Given the description of an element on the screen output the (x, y) to click on. 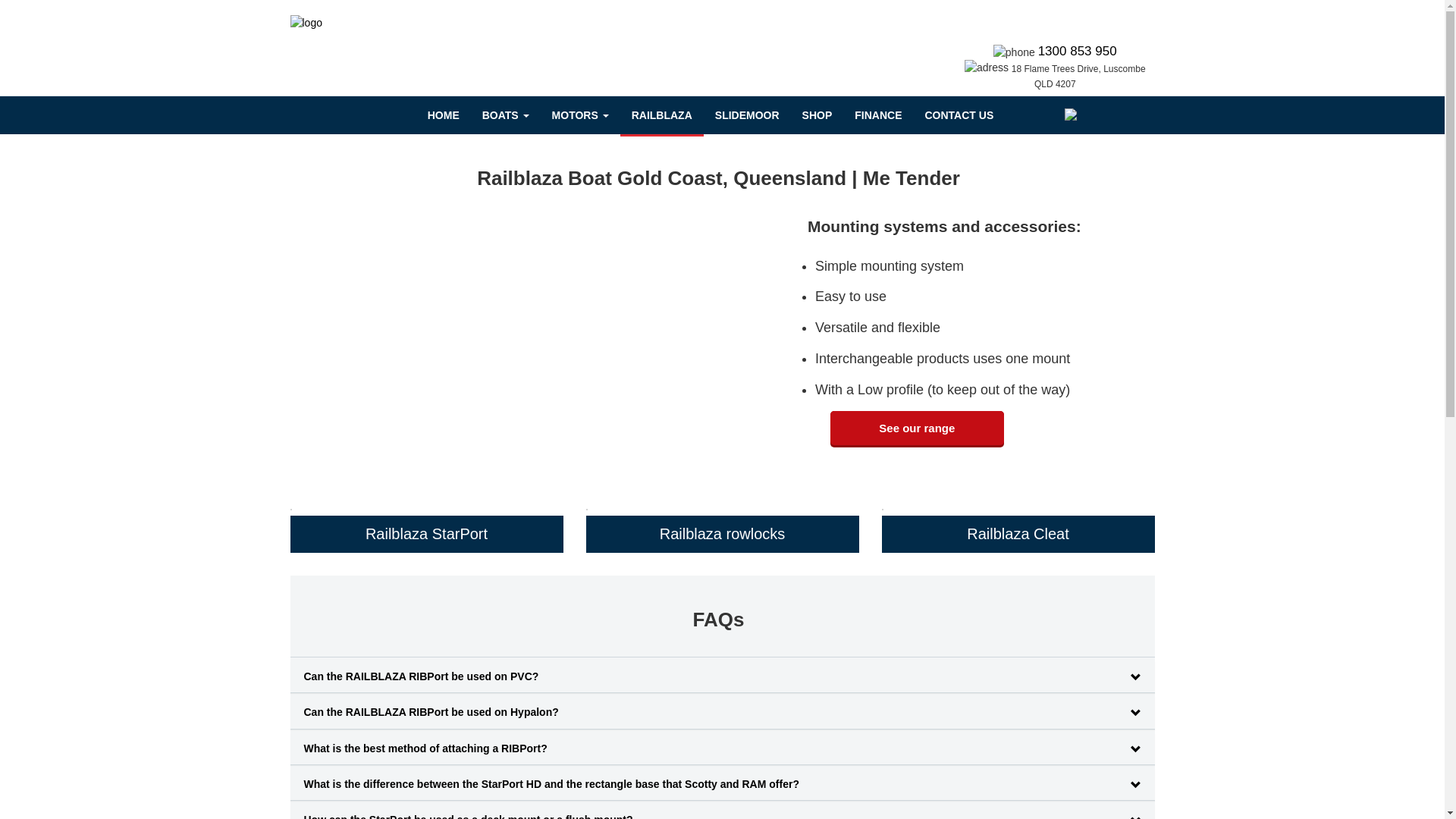
CONTACT US Element type: text (958, 115)
FINANCE Element type: text (878, 115)
See our range Element type: text (917, 428)
Can the RAILBLAZA RIBPort be used on Hypalon? Element type: text (721, 712)
BOATS Element type: text (505, 115)
HOME Element type: text (443, 115)
Can the RAILBLAZA RIBPort be used on PVC? Element type: text (721, 677)
SLIDEMOOR Element type: text (746, 115)
1300 853 950 Element type: text (1077, 50)
SHOP Element type: text (817, 115)
What is the best method of attaching a RIBPort? Element type: text (721, 749)
MOTORS Element type: text (580, 115)
RAILBLAZA Element type: text (661, 115)
